Given the description of an element on the screen output the (x, y) to click on. 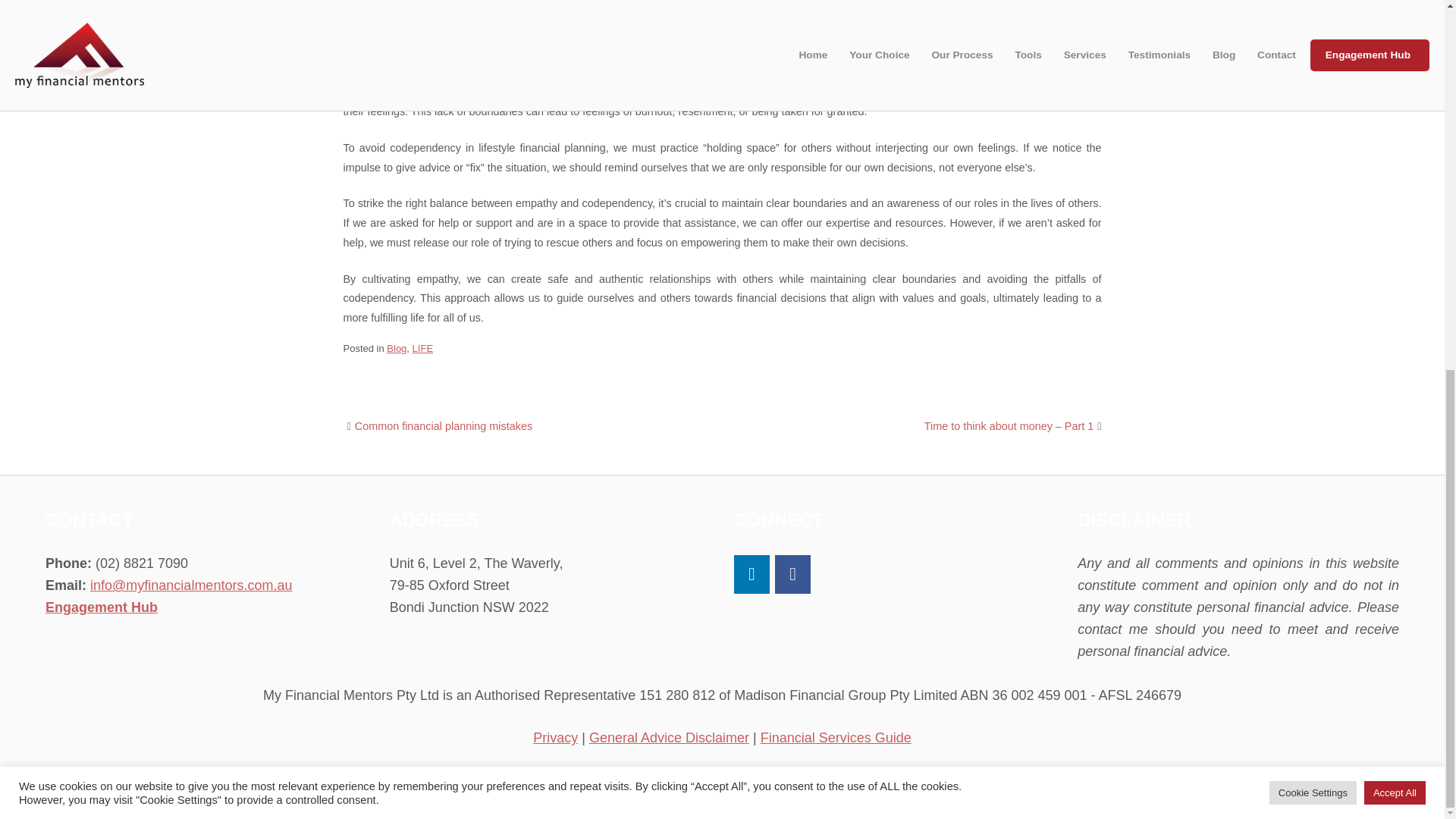
Blog (396, 348)
Accept All (1394, 120)
Financial Services Guide (835, 737)
My Financial Mentors on Linkedin (751, 574)
Cookie Settings (1312, 120)
Common financial planning mistakes (443, 426)
My Financial Mentors on Facebook (792, 574)
Privacy (555, 737)
Contatto (835, 798)
General Advice Disclaimer (669, 737)
